Given the description of an element on the screen output the (x, y) to click on. 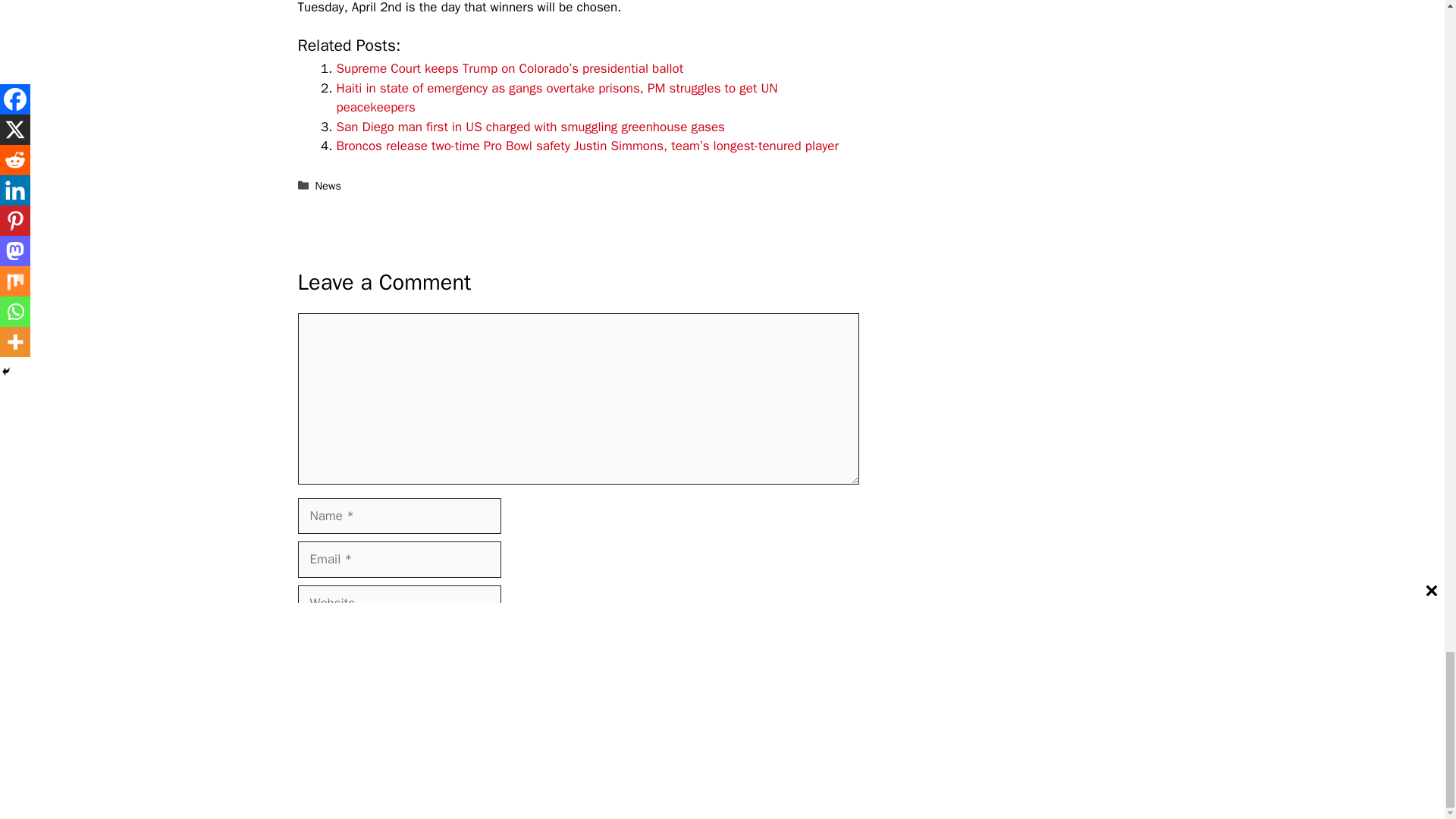
Post Comment (349, 684)
yes (302, 637)
